Given the description of an element on the screen output the (x, y) to click on. 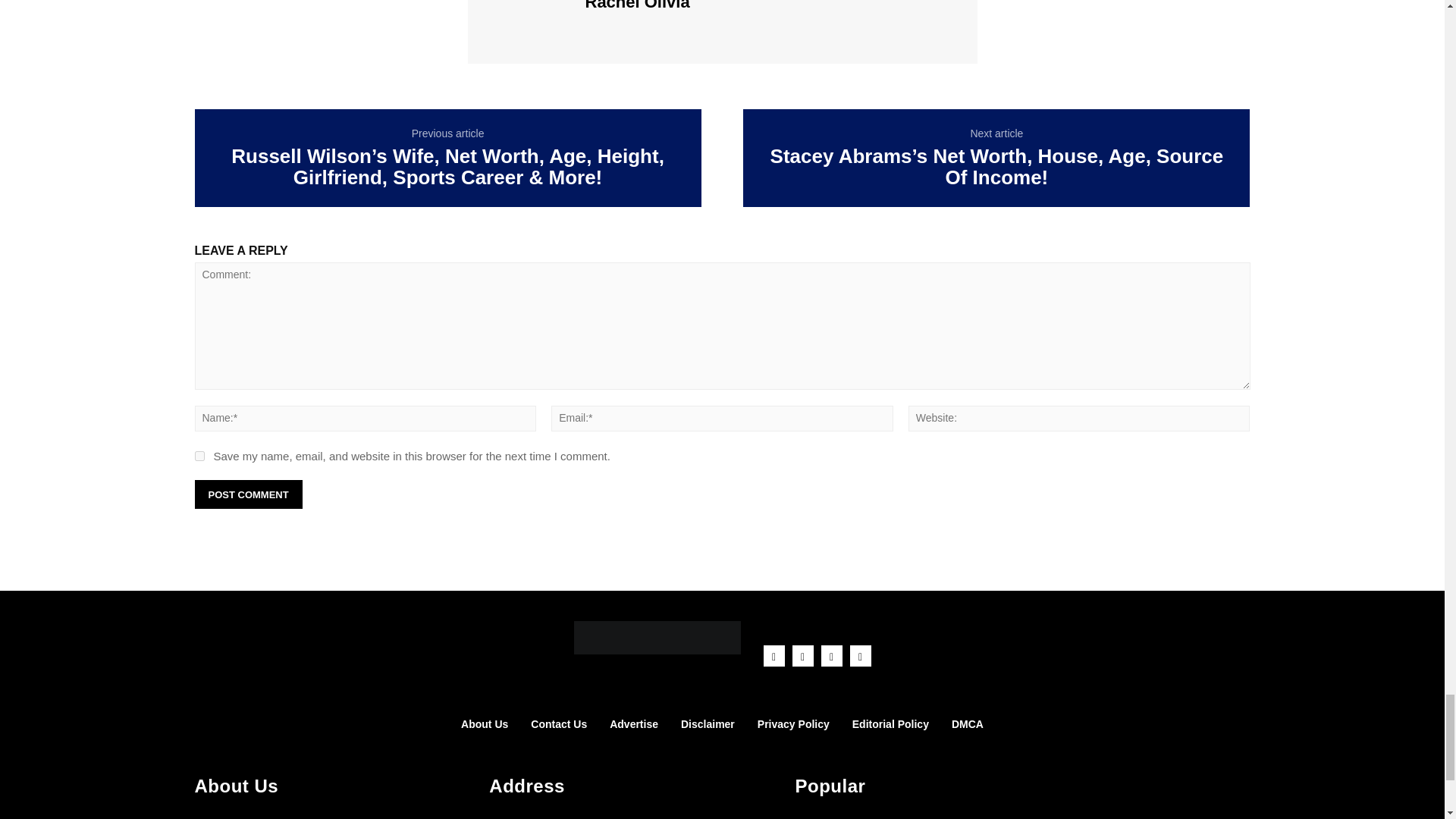
Post Comment (247, 494)
yes (198, 456)
